Given the description of an element on the screen output the (x, y) to click on. 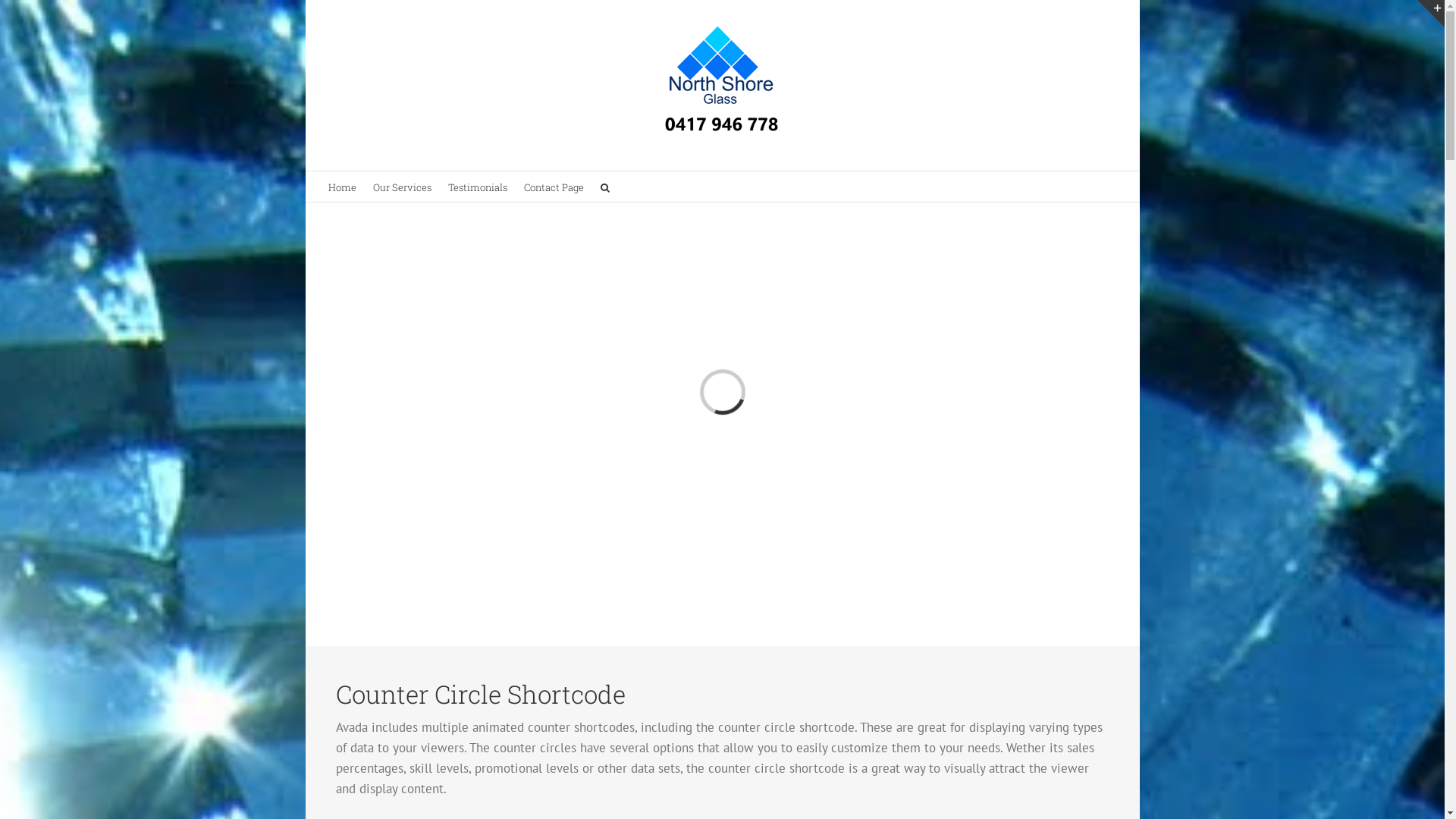
Home Element type: text (341, 186)
Search Element type: hover (605, 186)
Our Services Element type: text (402, 186)
Contact Page Element type: text (553, 186)
Testimonials Element type: text (476, 186)
Toggle Sliding Bar Area Element type: text (1430, 13)
